Given the description of an element on the screen output the (x, y) to click on. 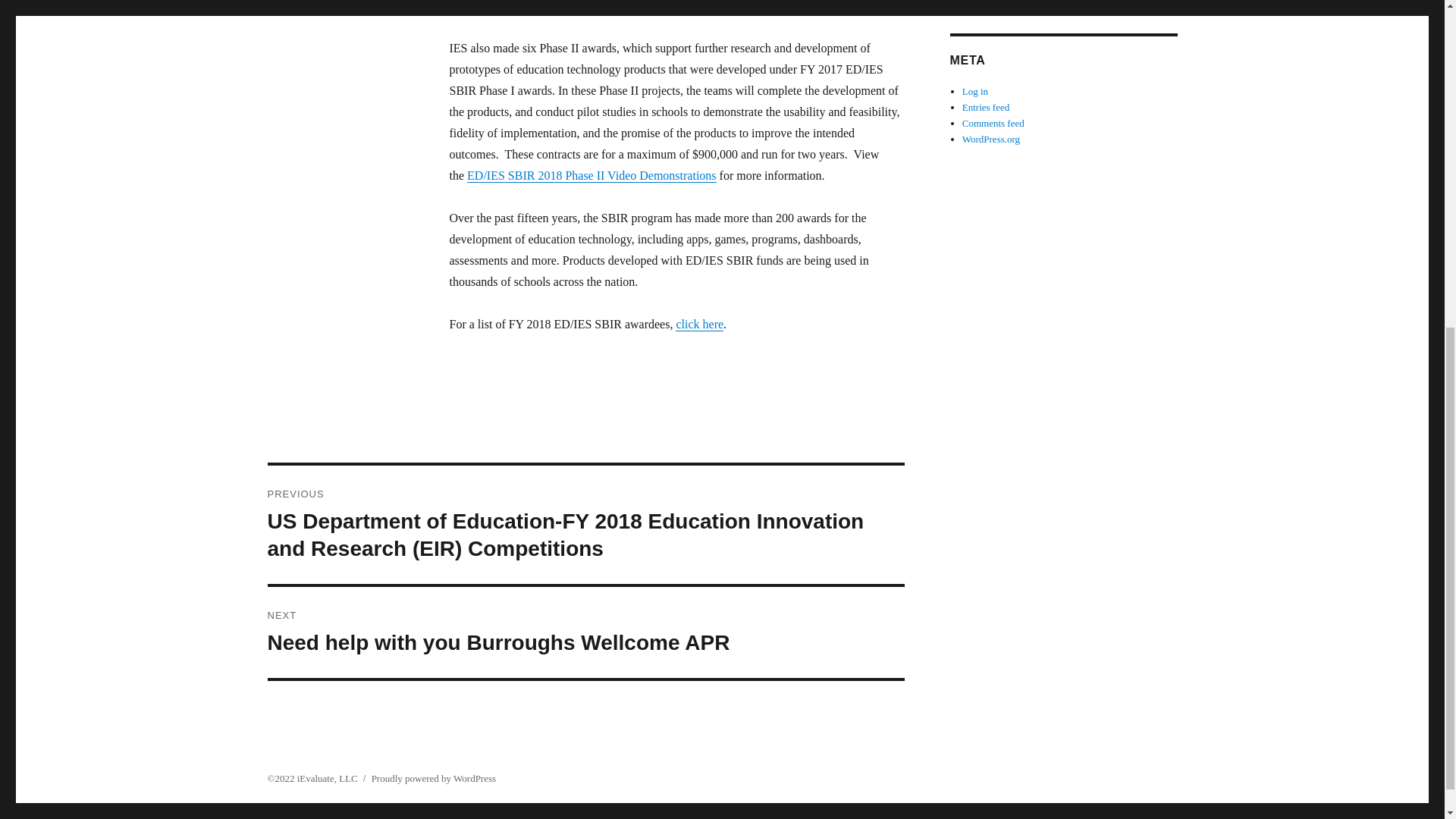
Entries feed (585, 632)
click here (985, 107)
Proudly powered by WordPress (699, 323)
Comments feed (433, 778)
Log in (993, 122)
WordPress.org (975, 91)
